Given the description of an element on the screen output the (x, y) to click on. 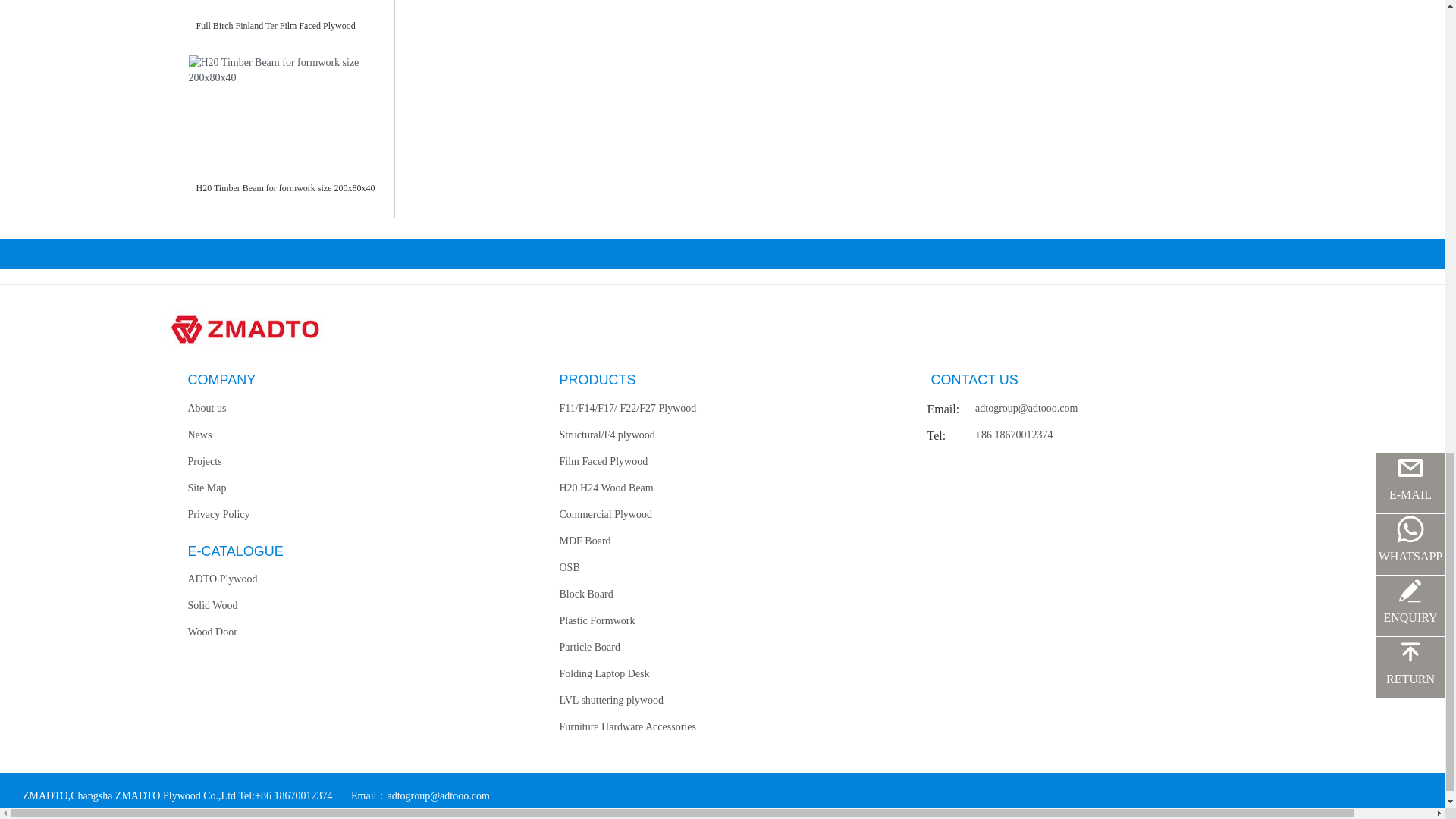
Full Birch Finland Ter Film Faced Plywood (275, 25)
H20 Timber Beam for formwork size 200x80x40 (284, 187)
